Given the description of an element on the screen output the (x, y) to click on. 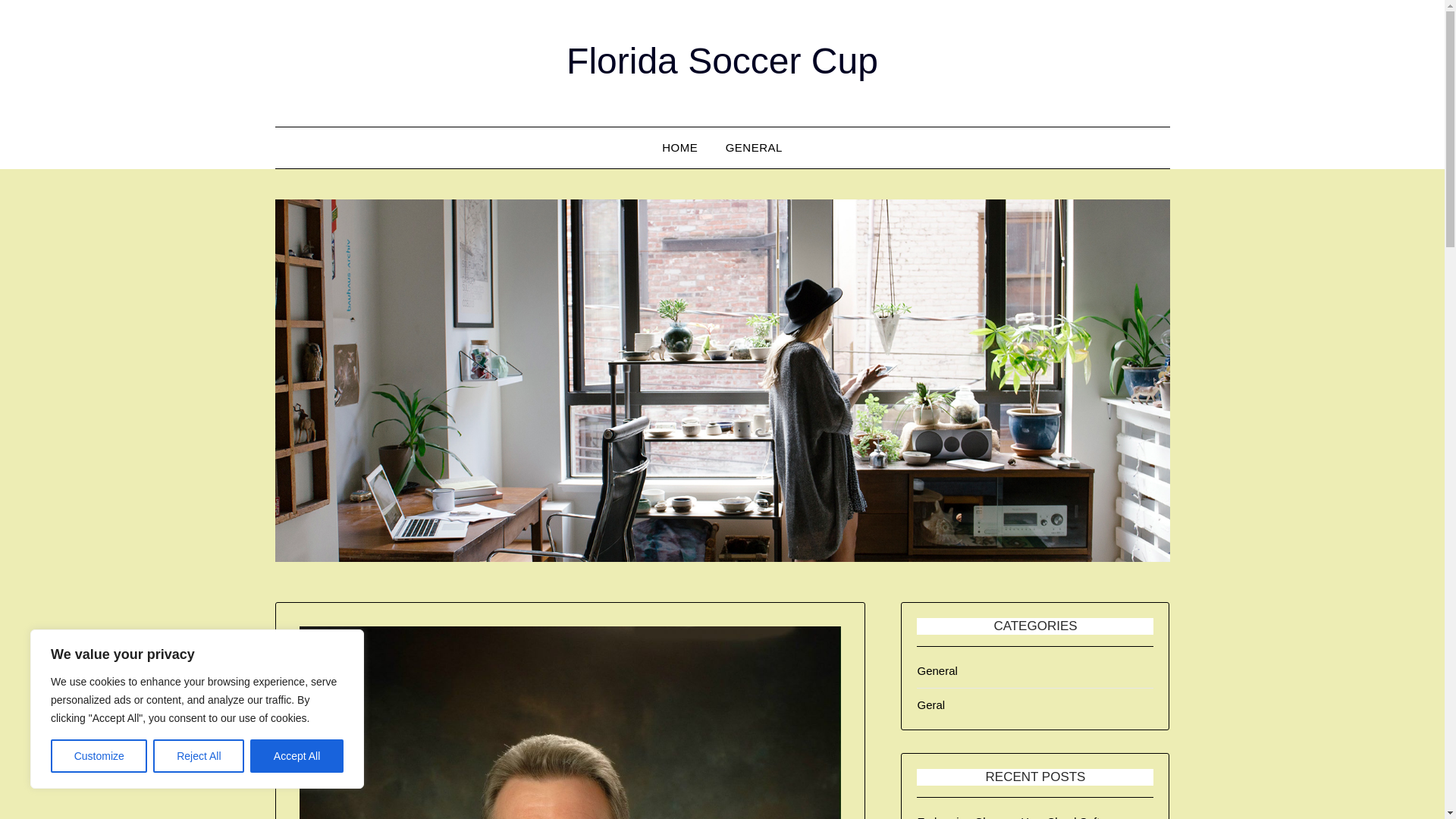
Reject All (198, 756)
HOME (679, 147)
General (936, 670)
GENERAL (753, 147)
Geral (930, 704)
Accept All (296, 756)
Customize (98, 756)
Florida Soccer Cup (721, 60)
